Given the description of an element on the screen output the (x, y) to click on. 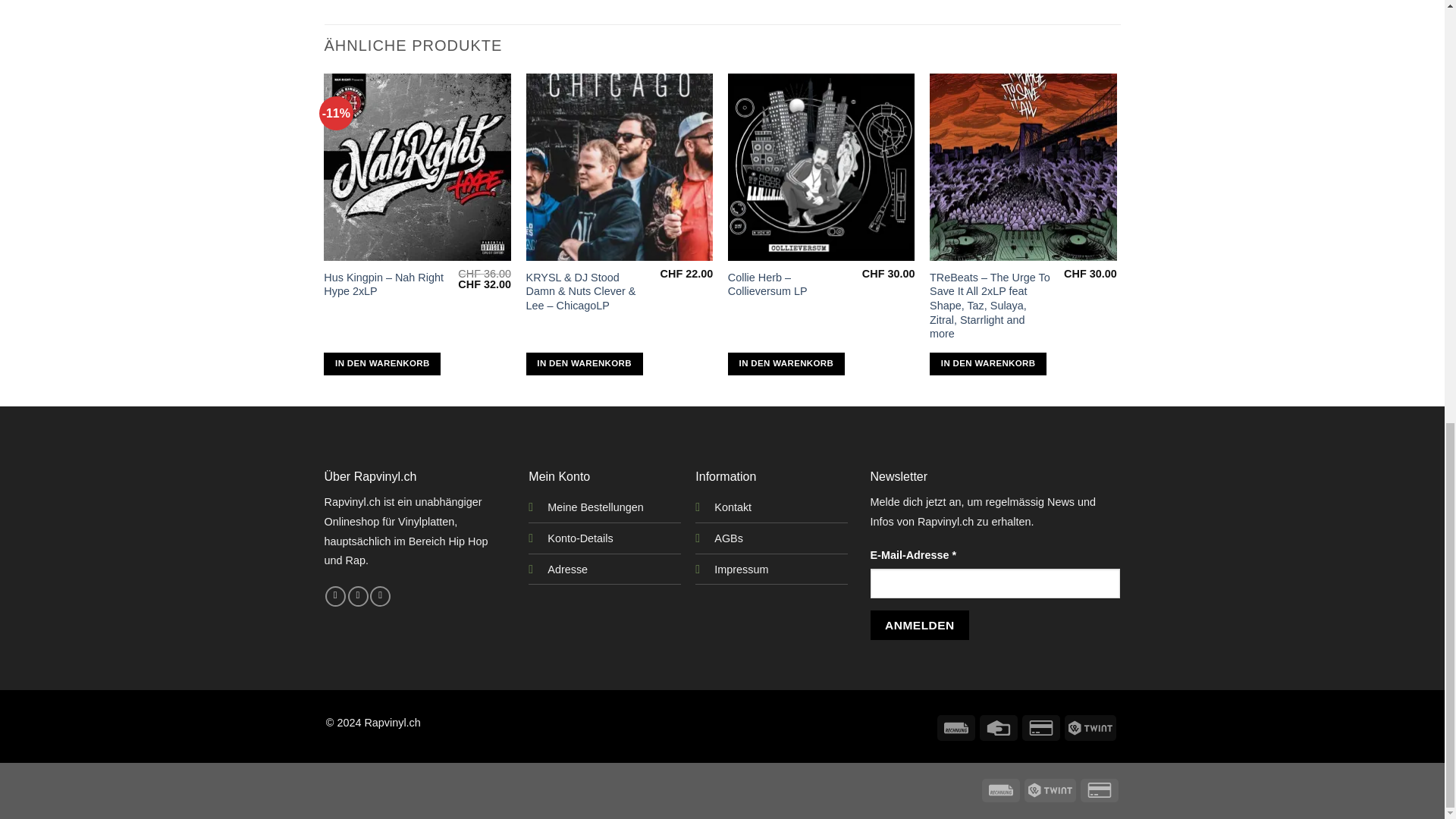
Anmelden (919, 624)
Auf Instagram folgen (357, 596)
Sende uns eine E-Mail (379, 596)
Auf Facebook folgen (335, 596)
